Given the description of an element on the screen output the (x, y) to click on. 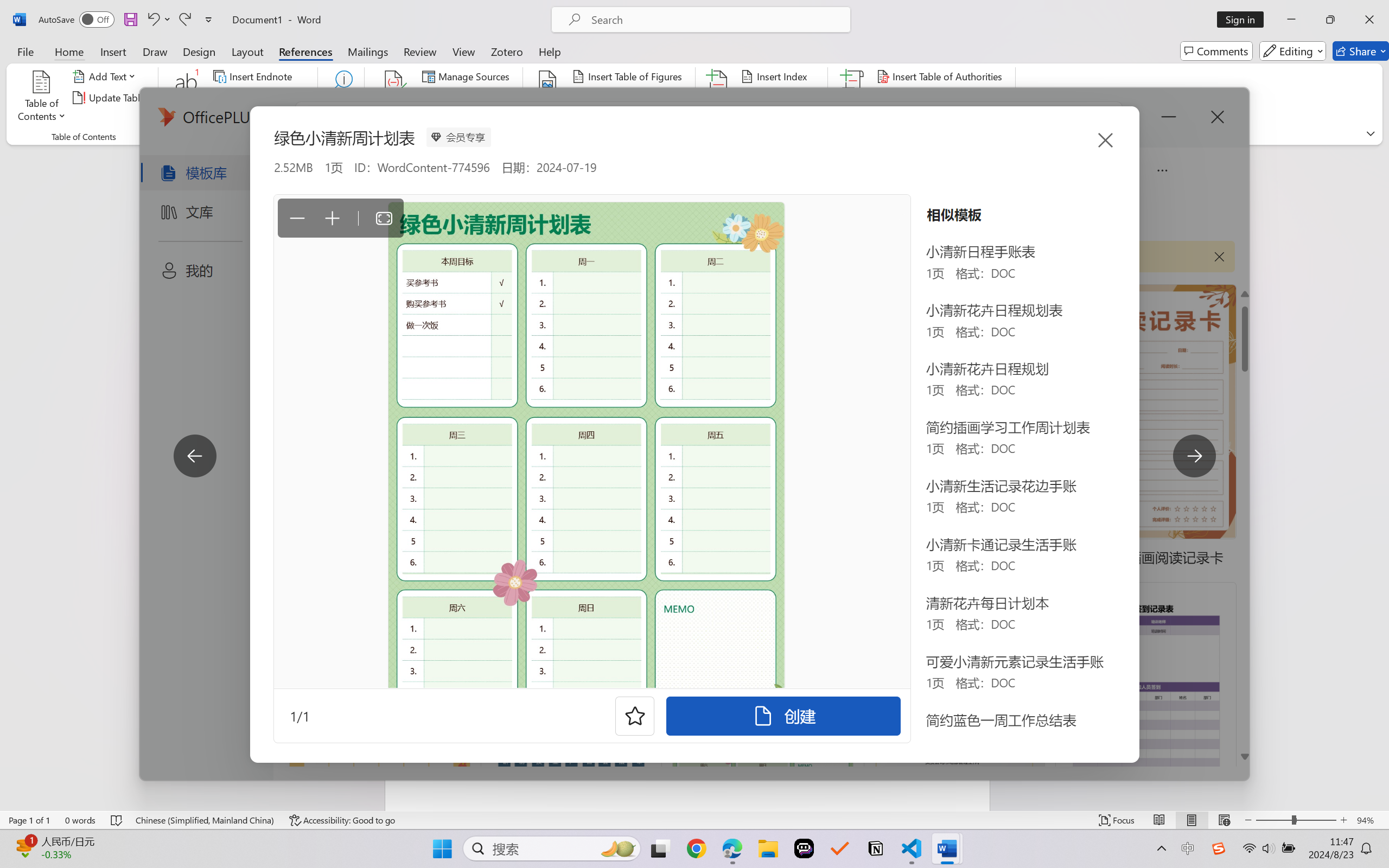
Add Text (106, 75)
Insert Table of Authorities... (941, 75)
Next Footnote (260, 97)
Language Chinese (Simplified, Mainland China) (205, 819)
